Given the description of an element on the screen output the (x, y) to click on. 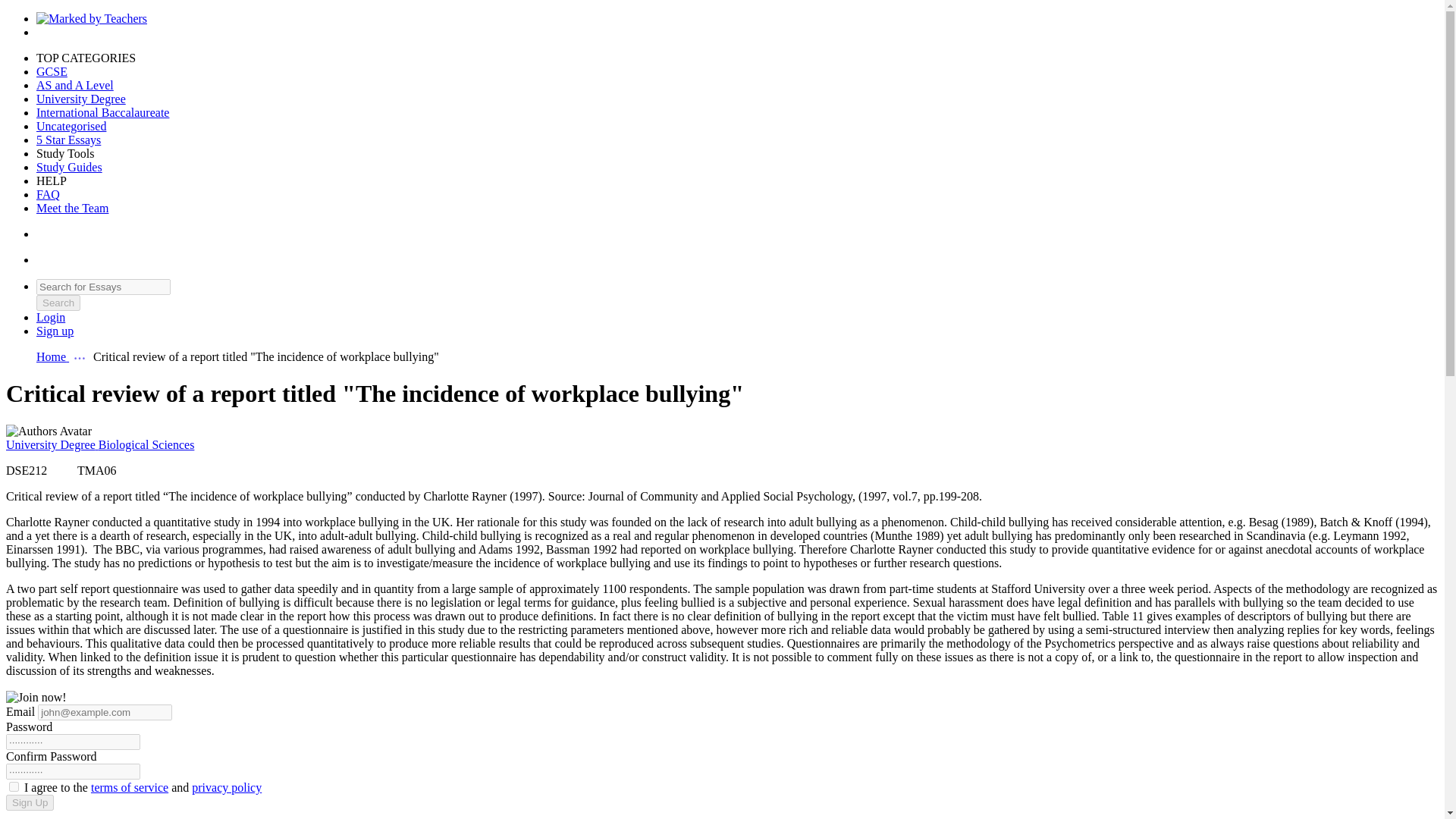
GCSE (51, 71)
University Degree (52, 444)
on (13, 786)
Search (58, 302)
International Baccalaureate (102, 112)
privacy policy (227, 787)
Study Guides (68, 166)
Login (50, 317)
5 Star Essays (68, 139)
University Degree (80, 98)
FAQ (47, 194)
International Baccalaureate (102, 112)
Sign Up (29, 802)
FAQ (47, 194)
Study Guides (68, 166)
